Given the description of an element on the screen output the (x, y) to click on. 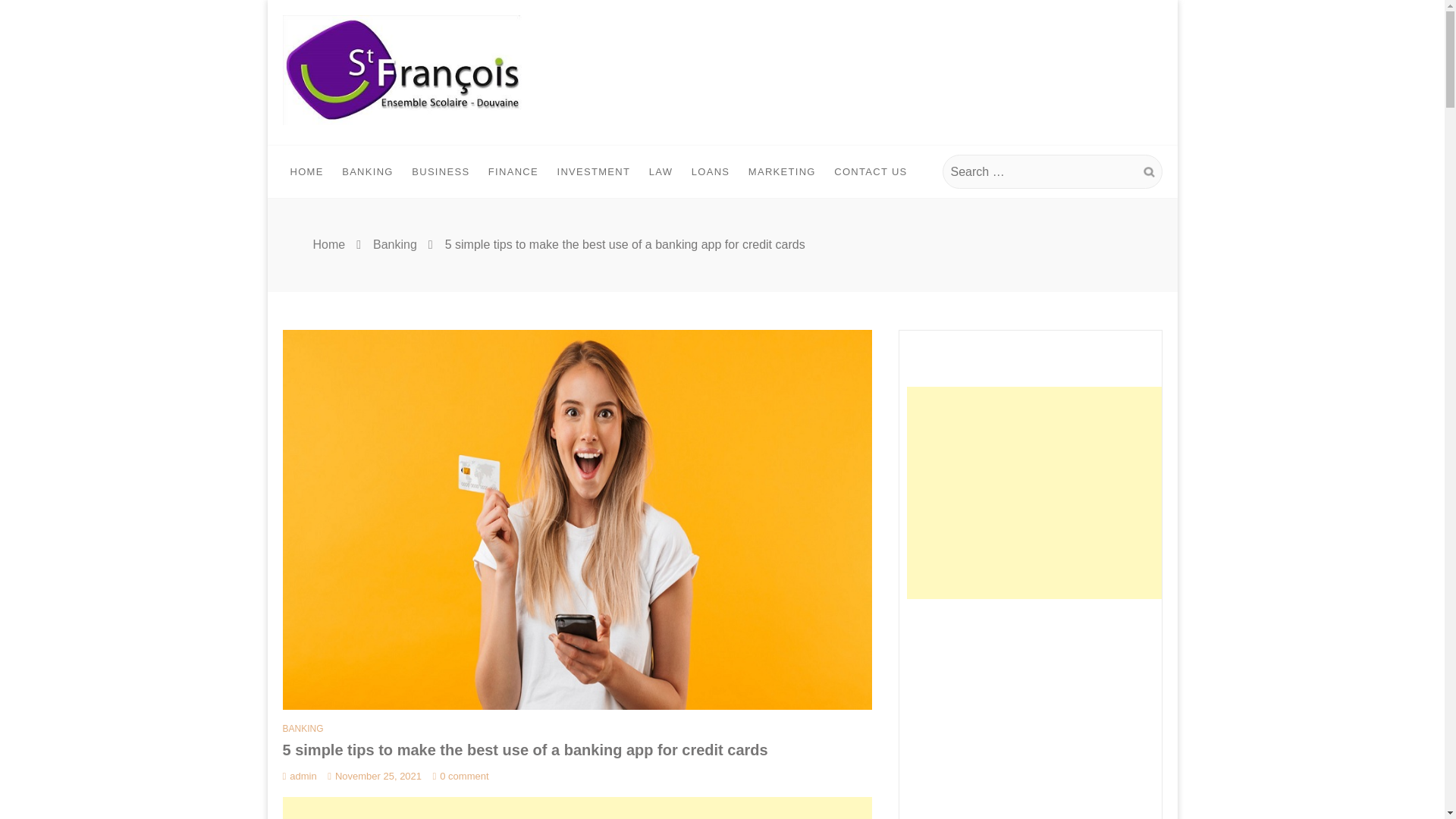
MARKETING (782, 171)
Banking (394, 244)
INVESTMENT (592, 171)
Search (1148, 172)
0 comment (460, 776)
Home (329, 244)
Search (1148, 172)
November 25, 2021 (374, 776)
BANKING (302, 728)
admin (298, 776)
